Given the description of an element on the screen output the (x, y) to click on. 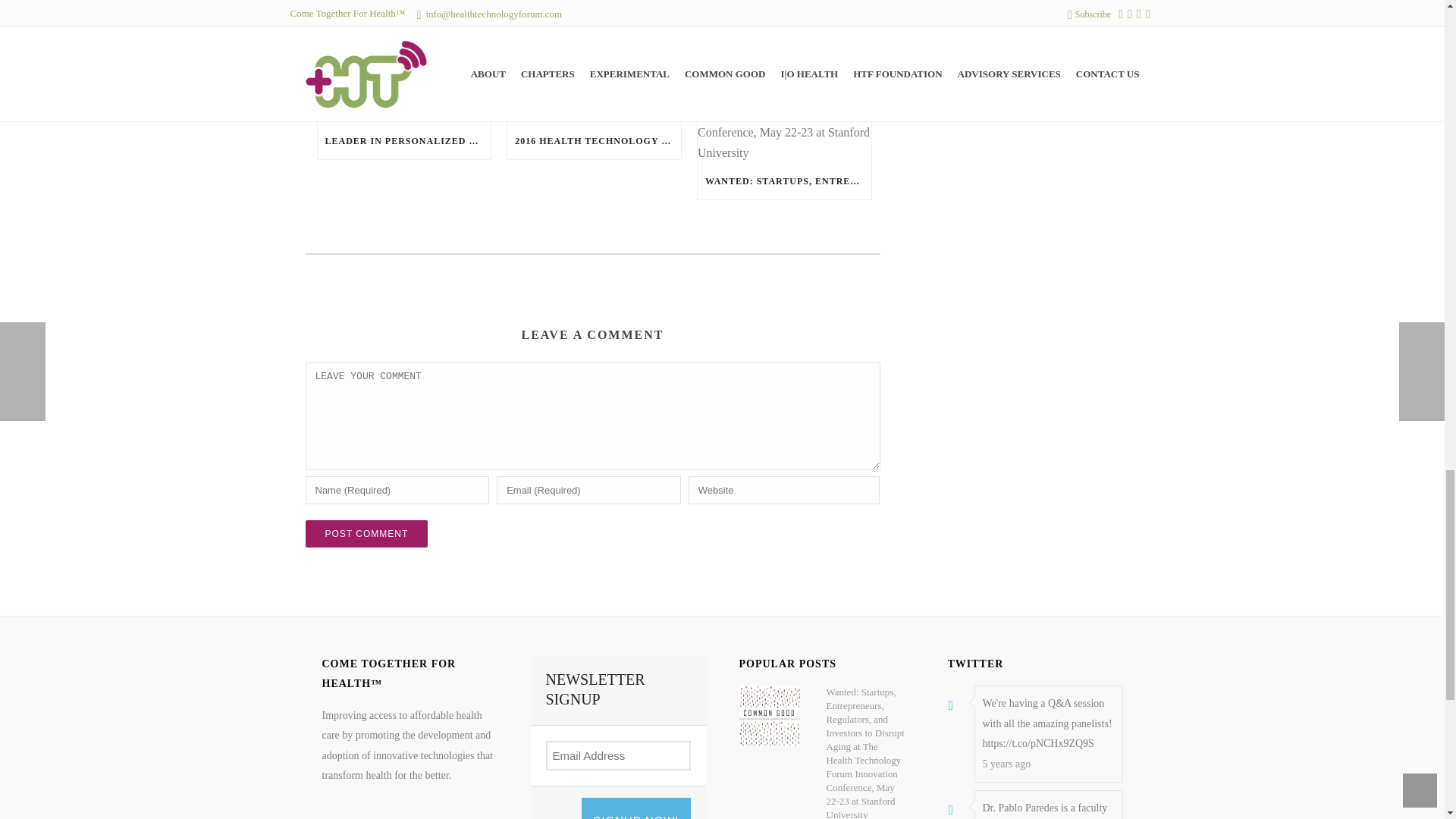
POST COMMENT (366, 533)
